Given the description of an element on the screen output the (x, y) to click on. 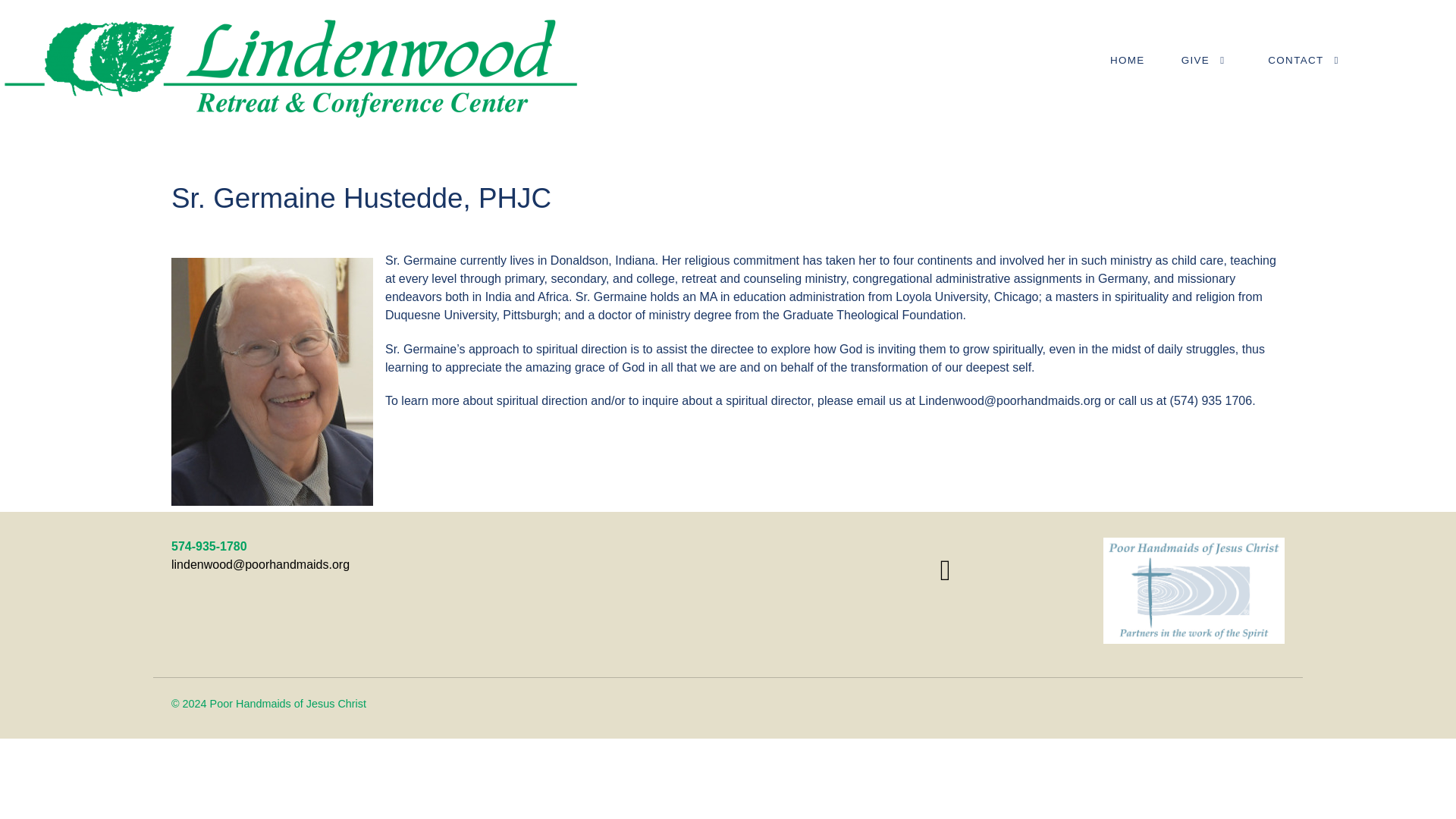
HOME (1127, 59)
GIVE (1206, 60)
CONTACT (1305, 60)
